Given the description of an element on the screen output the (x, y) to click on. 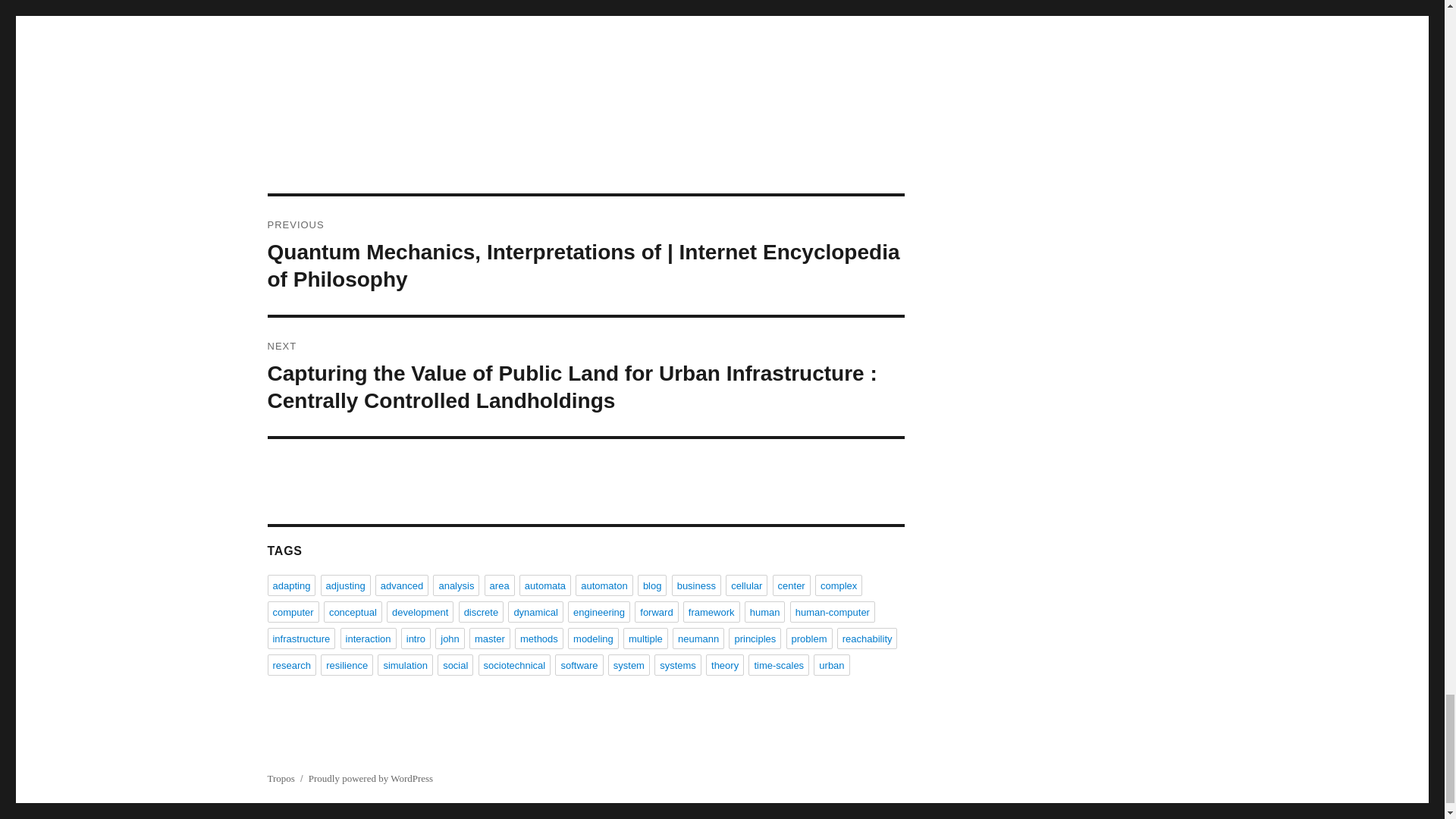
conceptual (352, 611)
engineering (598, 611)
area (499, 585)
automata (544, 585)
forward (656, 611)
neumann (697, 638)
adjusting (345, 585)
methods (539, 638)
advanced (401, 585)
